Given the description of an element on the screen output the (x, y) to click on. 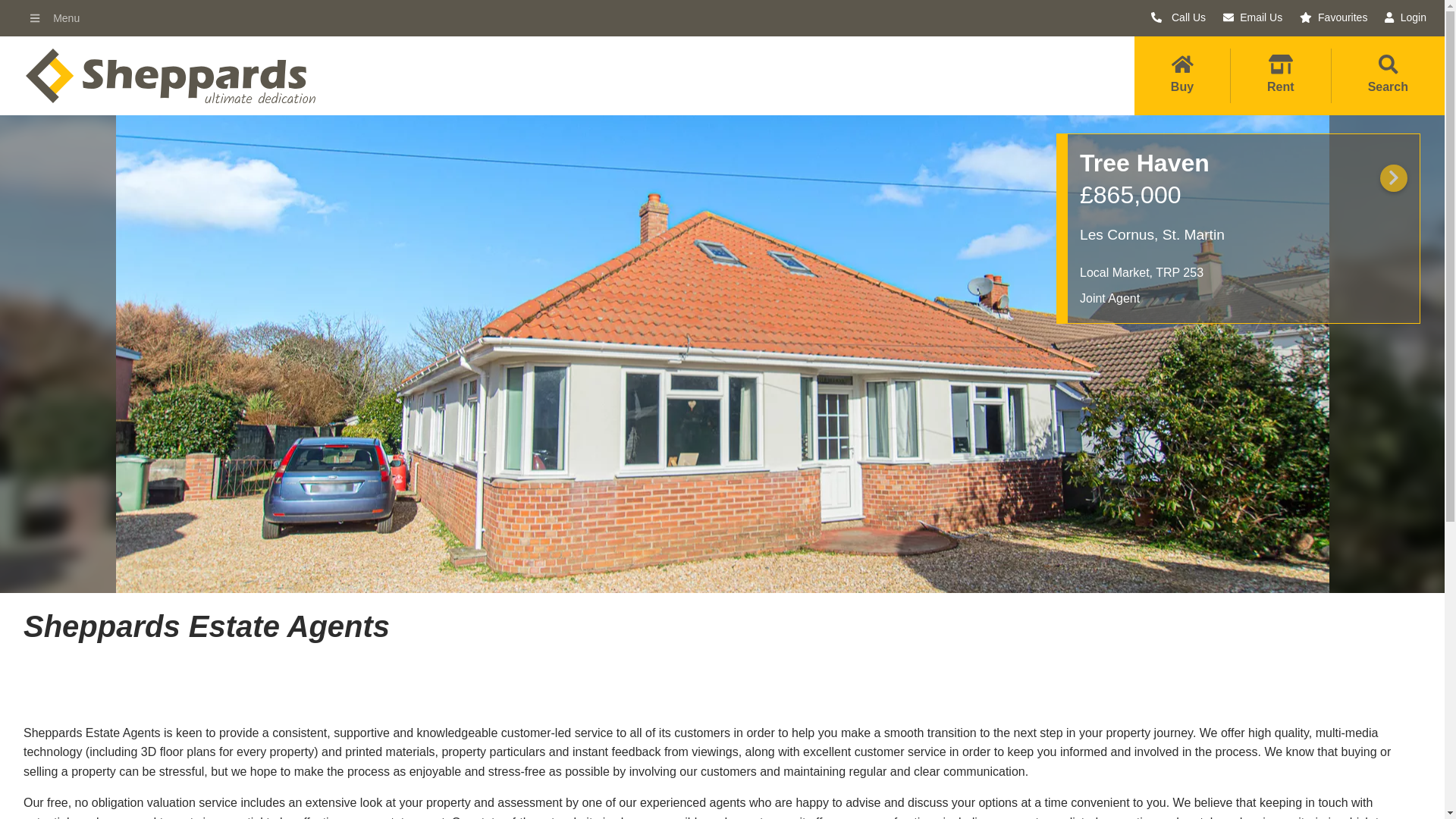
Favourites (1333, 17)
Contact (1012, 587)
Login (1405, 17)
Sheppards Estate Agents (159, 800)
Terms of Use (46, 603)
Terms and Conditions (70, 581)
Progressive Web App by PJWD.Net (1403, 800)
Menu (56, 17)
Privacy Policy (49, 558)
Email Us (1252, 17)
